Given the description of an element on the screen output the (x, y) to click on. 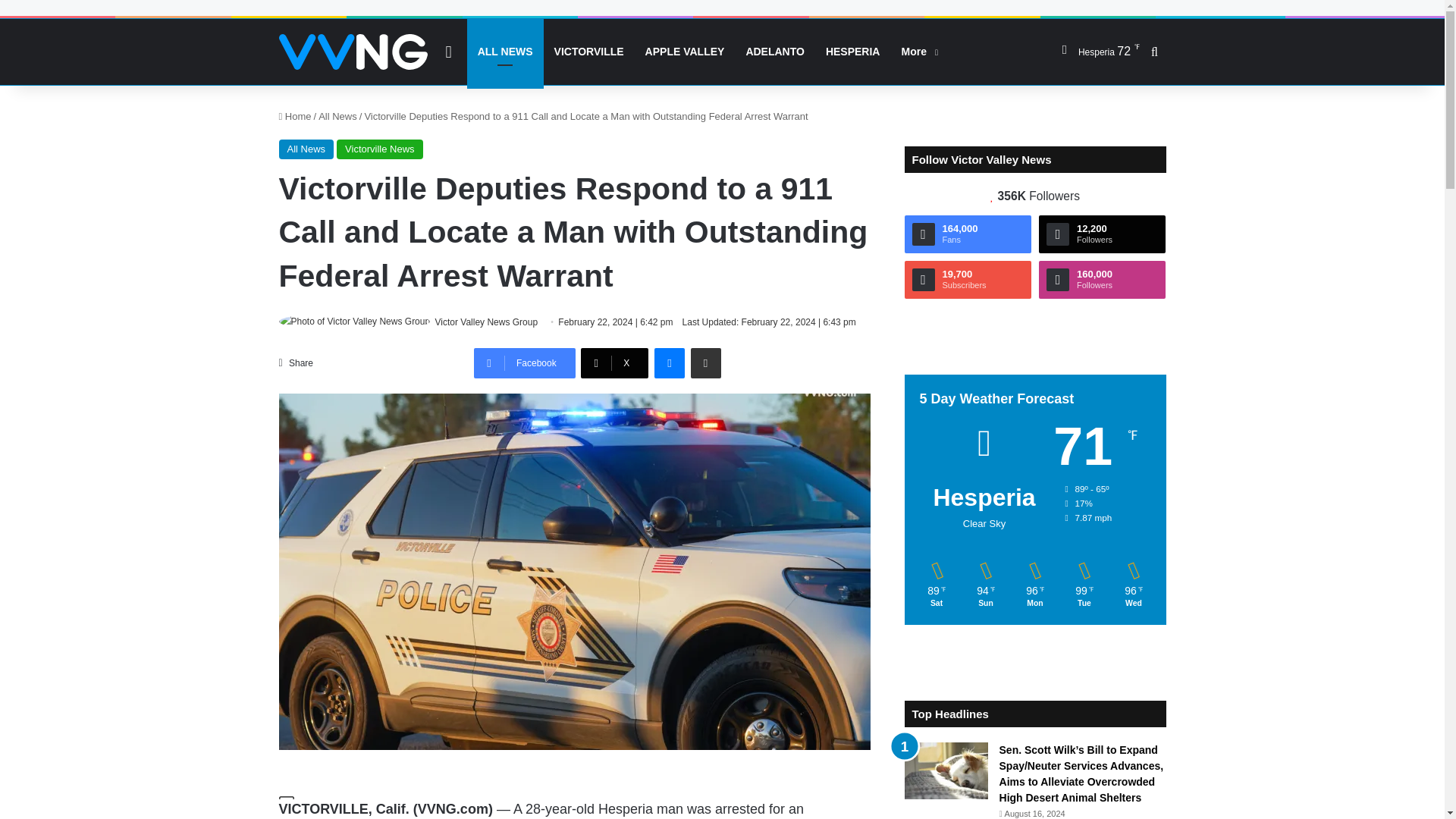
VVNG - Victor Valley News (353, 51)
Messenger (668, 363)
All News (306, 148)
Share via Email (705, 363)
HESPERIA (853, 51)
VICTORVILLE (588, 51)
Home (295, 116)
APPLE VALLEY (684, 51)
All News (337, 116)
ADELANTO (775, 51)
